Given the description of an element on the screen output the (x, y) to click on. 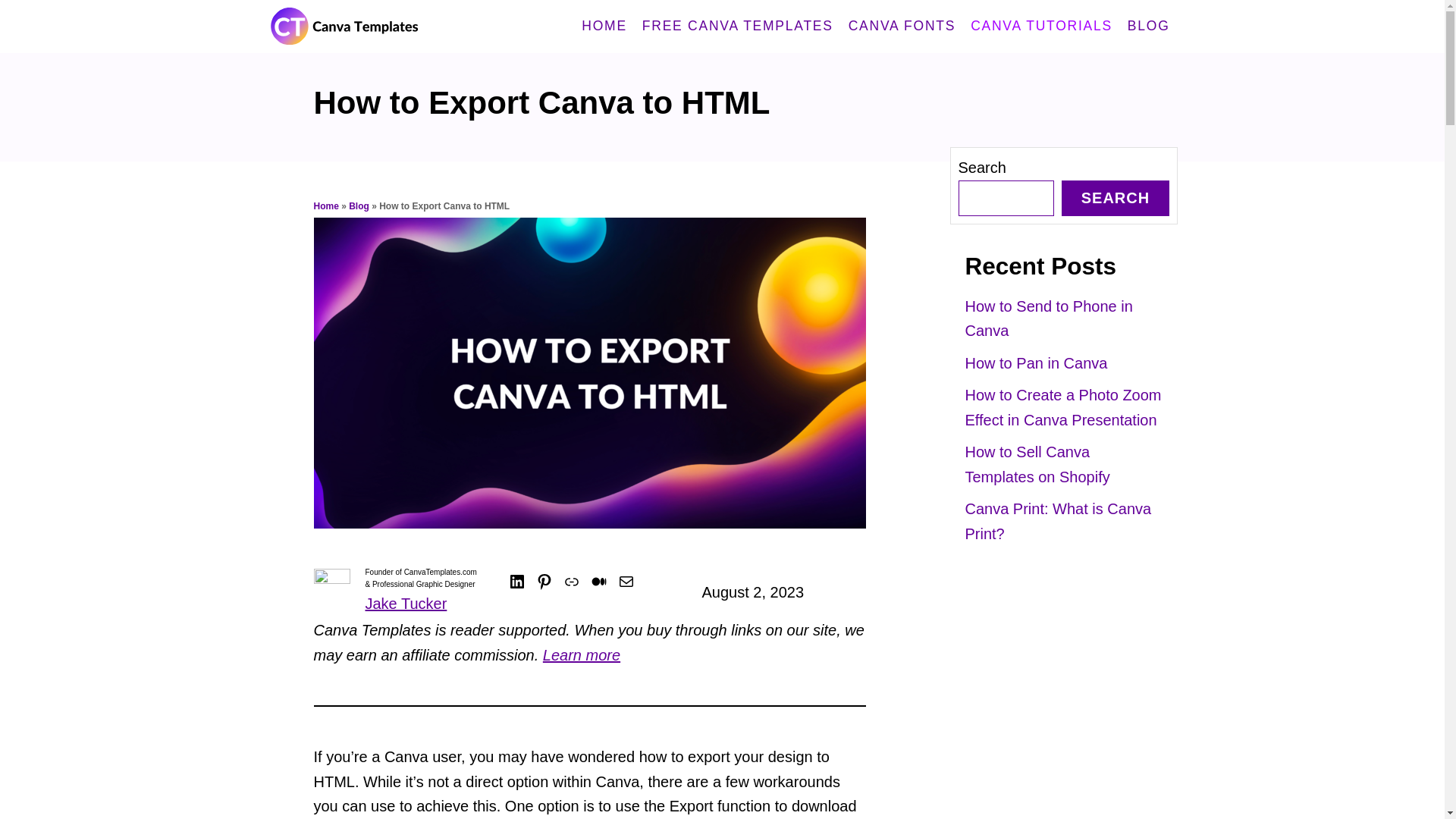
Canva Templates (388, 26)
HOME (603, 26)
CANVA FONTS (901, 26)
FREE CANVA TEMPLATES (737, 26)
